Given the description of an element on the screen output the (x, y) to click on. 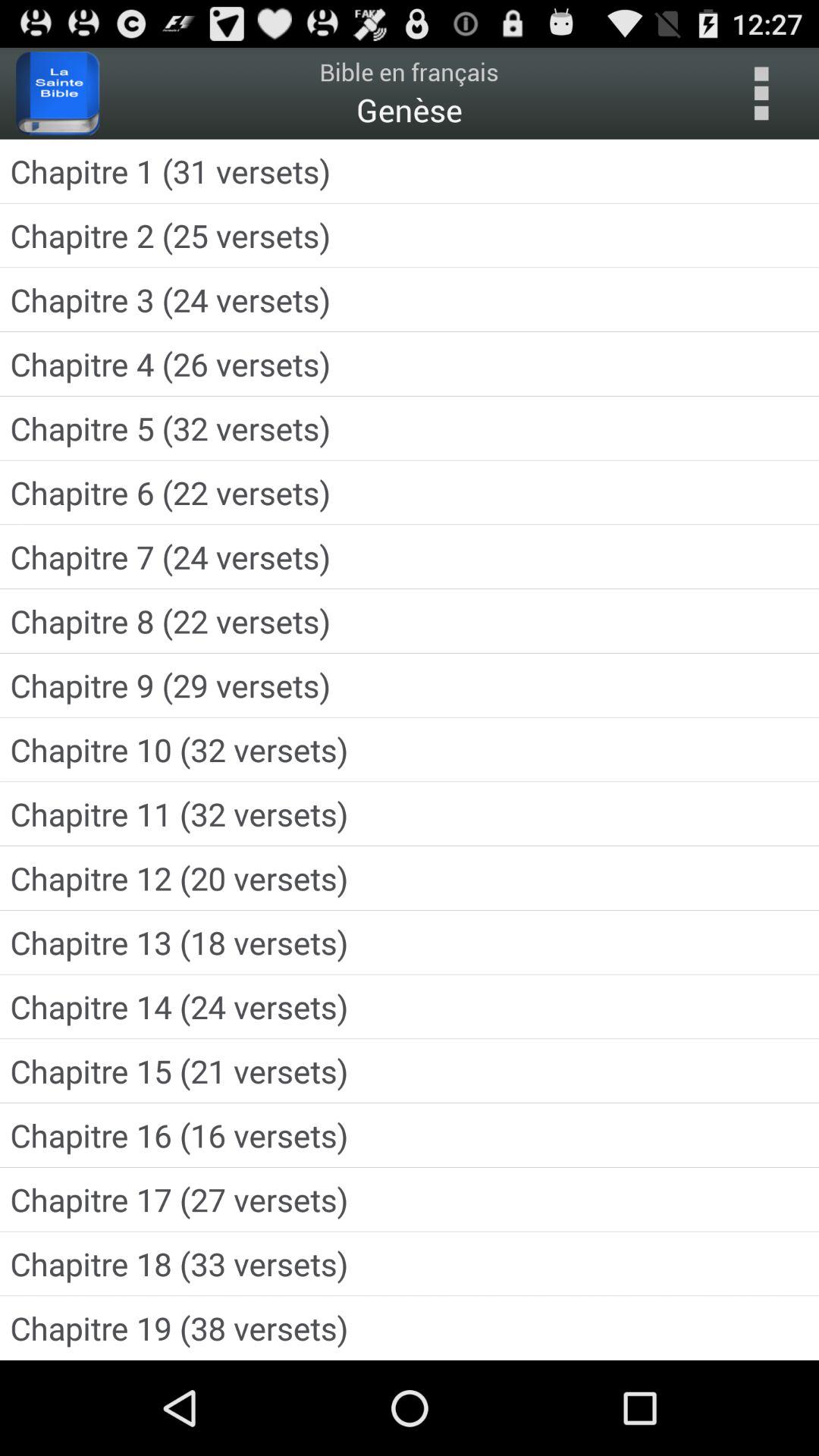
turn off the chapitre 19 38 icon (409, 1327)
